Given the description of an element on the screen output the (x, y) to click on. 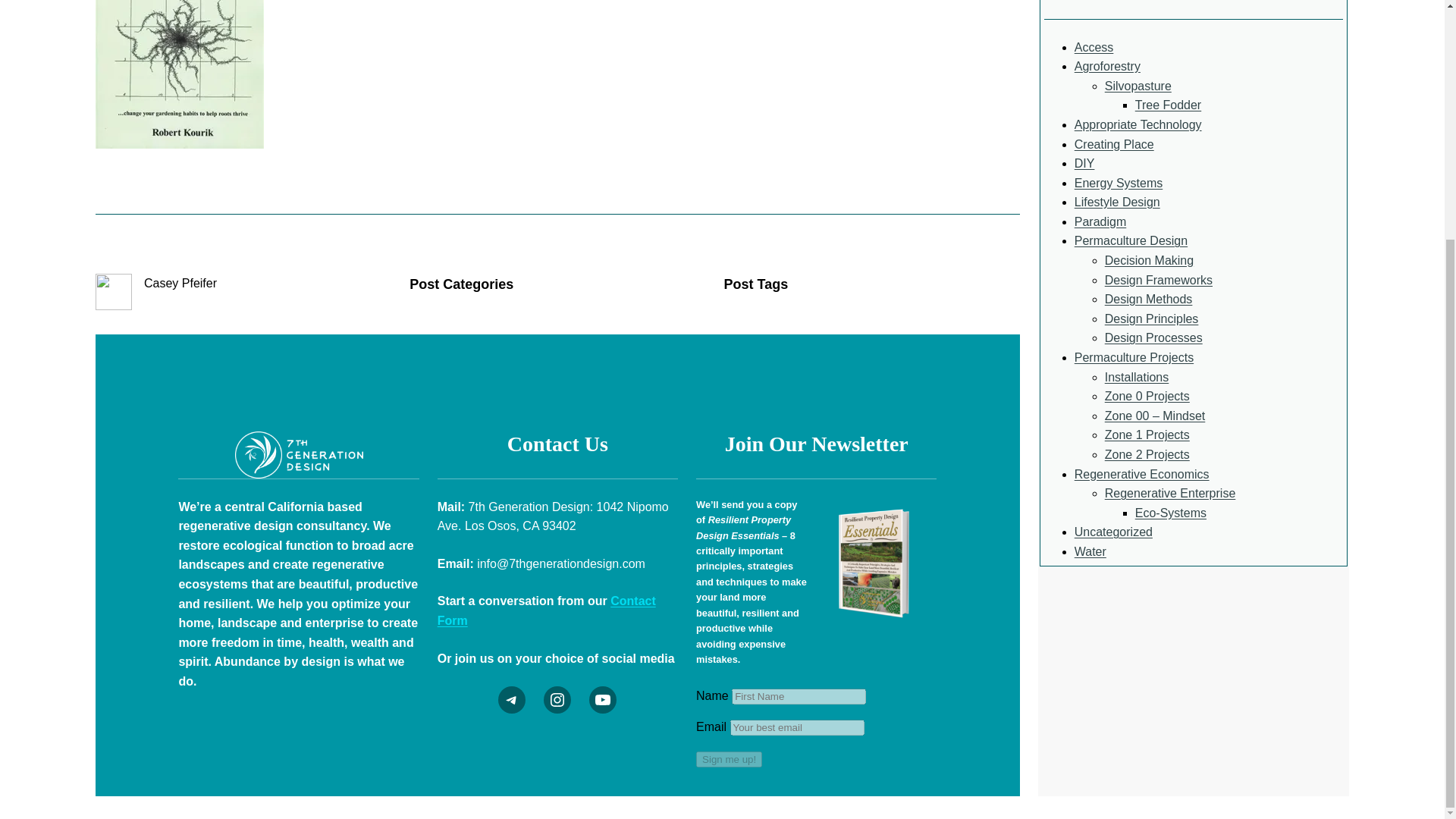
Sign me up! (728, 759)
